Given the description of an element on the screen output the (x, y) to click on. 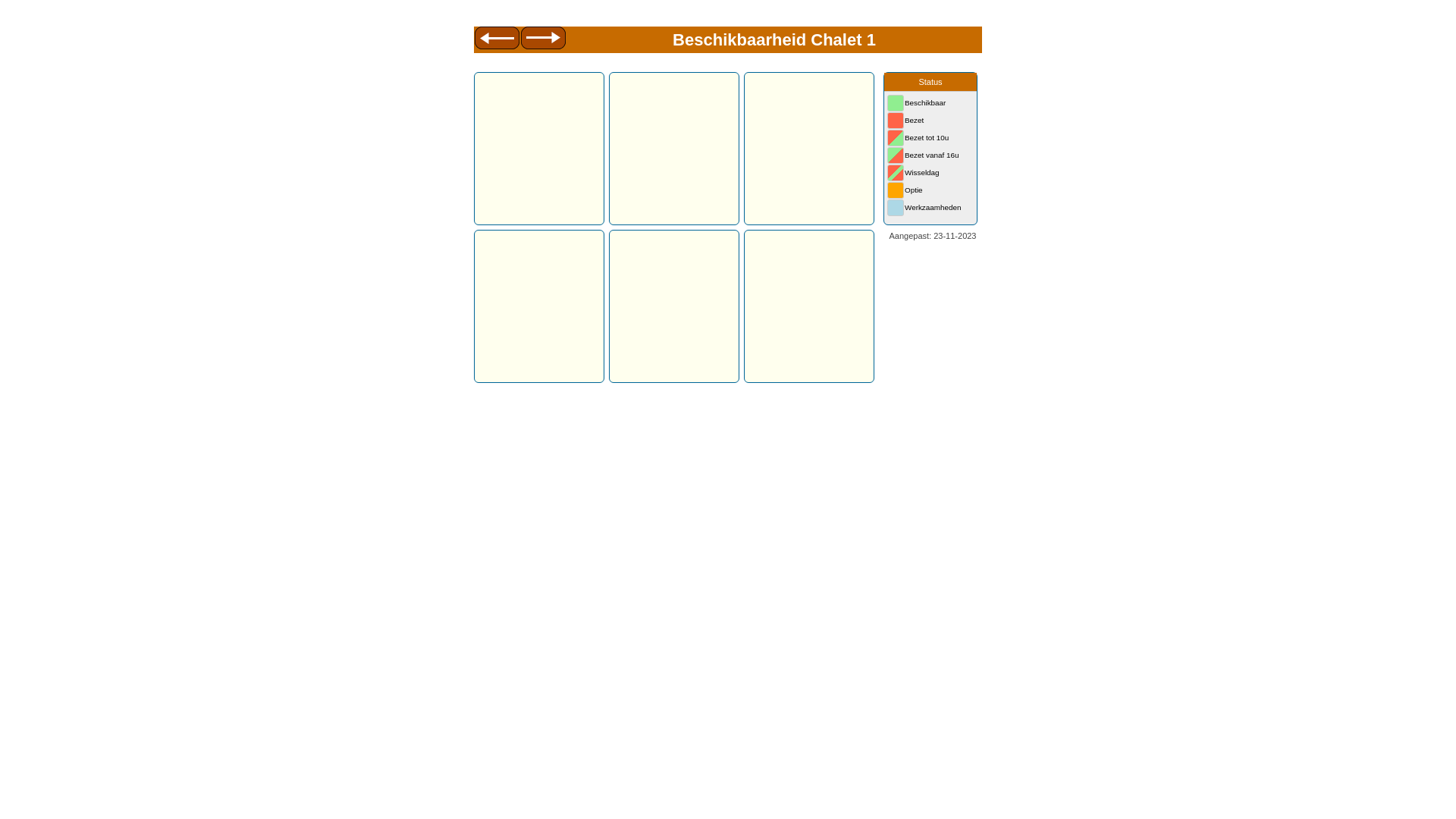
Volgende maanden Element type: hover (543, 39)
Vorige maanden Element type: hover (496, 39)
